Given the description of an element on the screen output the (x, y) to click on. 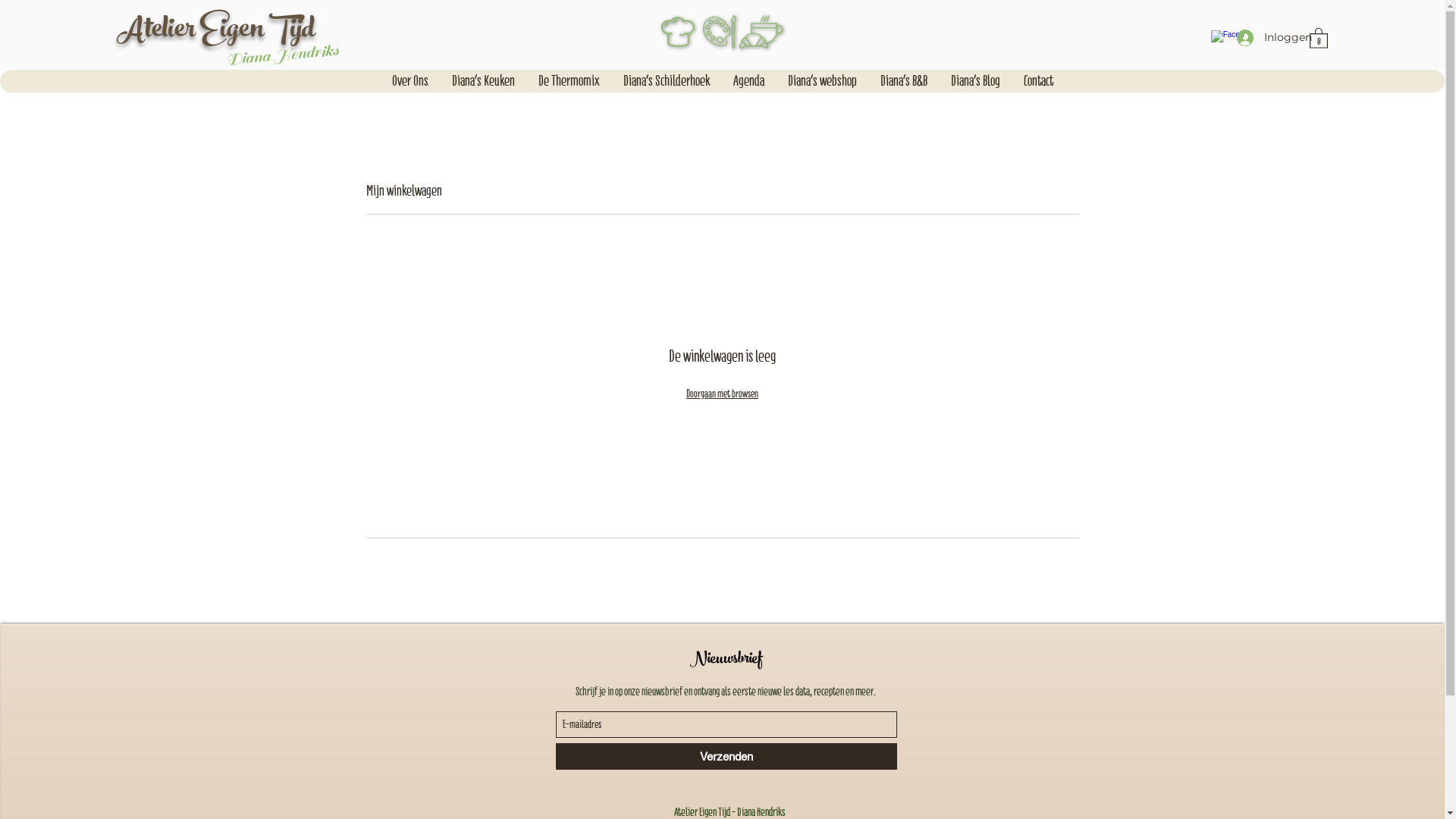
0 Element type: text (1318, 37)
Agenda Element type: text (748, 80)
Contact Element type: text (1037, 80)
Diana's Keuken Element type: text (482, 80)
Inloggen Element type: text (1267, 37)
Diana's Schilderhoek Element type: text (666, 80)
Atelier Eigen Tijd Element type: text (215, 31)
Verzenden Element type: text (725, 756)
Diana's B&B Element type: text (903, 80)
Doorgaan met browsen Element type: text (722, 393)
De Thermomix Element type: text (568, 80)
Diana's webshop Element type: text (821, 80)
Over Ons Element type: text (409, 80)
Diana's Blog Element type: text (974, 80)
